Given the description of an element on the screen output the (x, y) to click on. 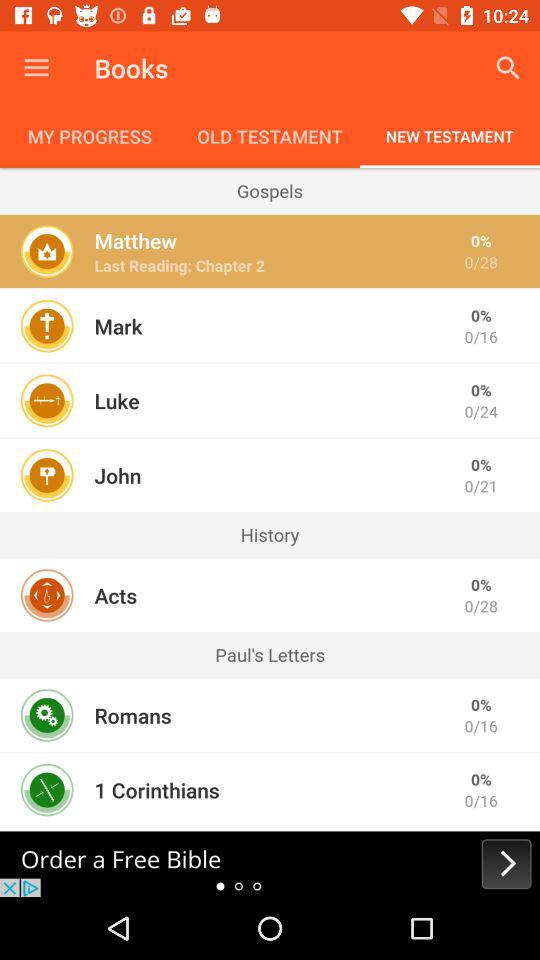
bible (270, 864)
